Given the description of an element on the screen output the (x, y) to click on. 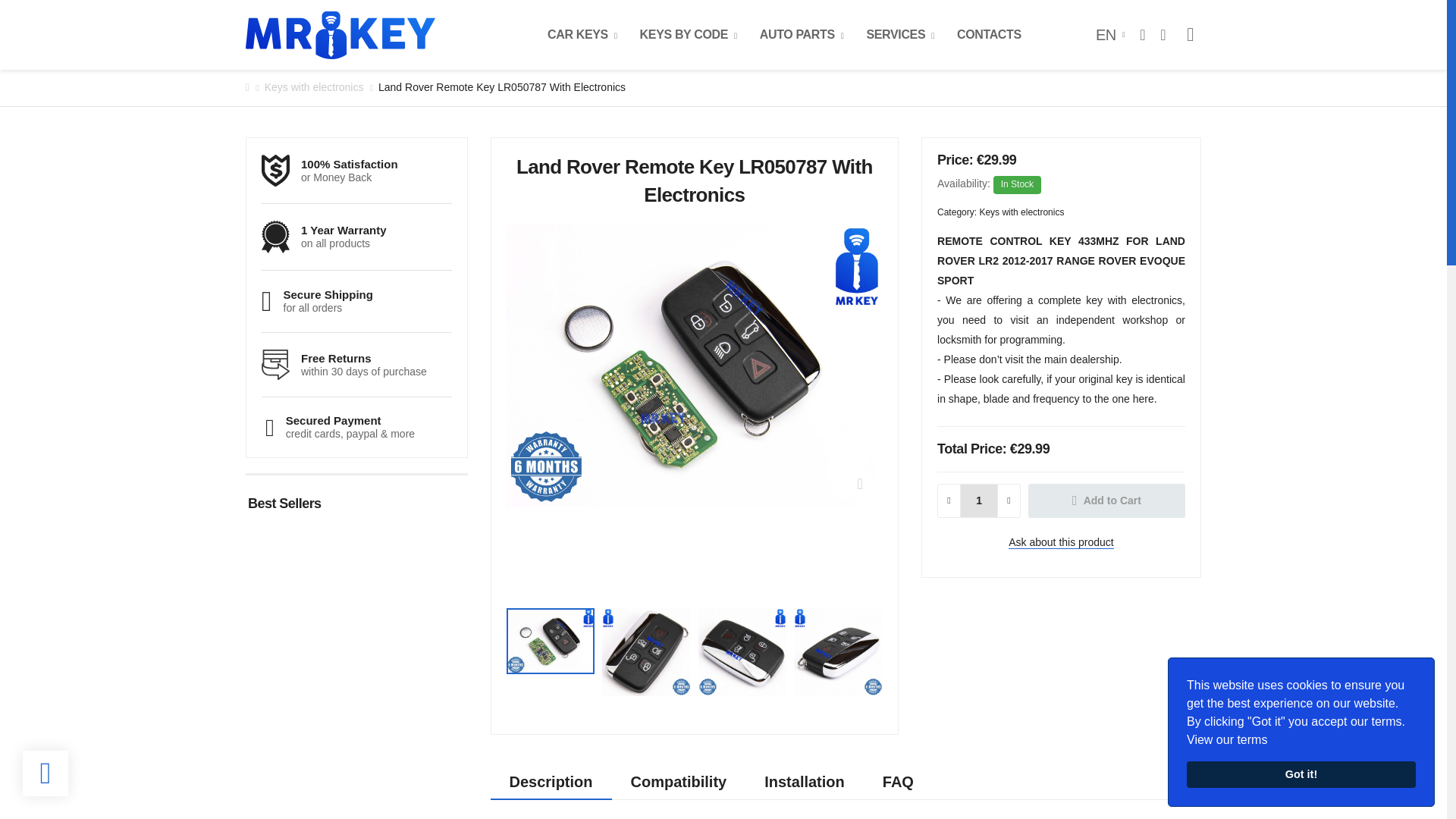
AUTO PARTS (802, 34)
Got it! (1300, 774)
1 (978, 500)
SERVICES (900, 34)
CONTACTS (989, 34)
KEYS BY CODE (688, 34)
CAR KEYS (582, 34)
View our terms (1226, 740)
